Given the description of an element on the screen output the (x, y) to click on. 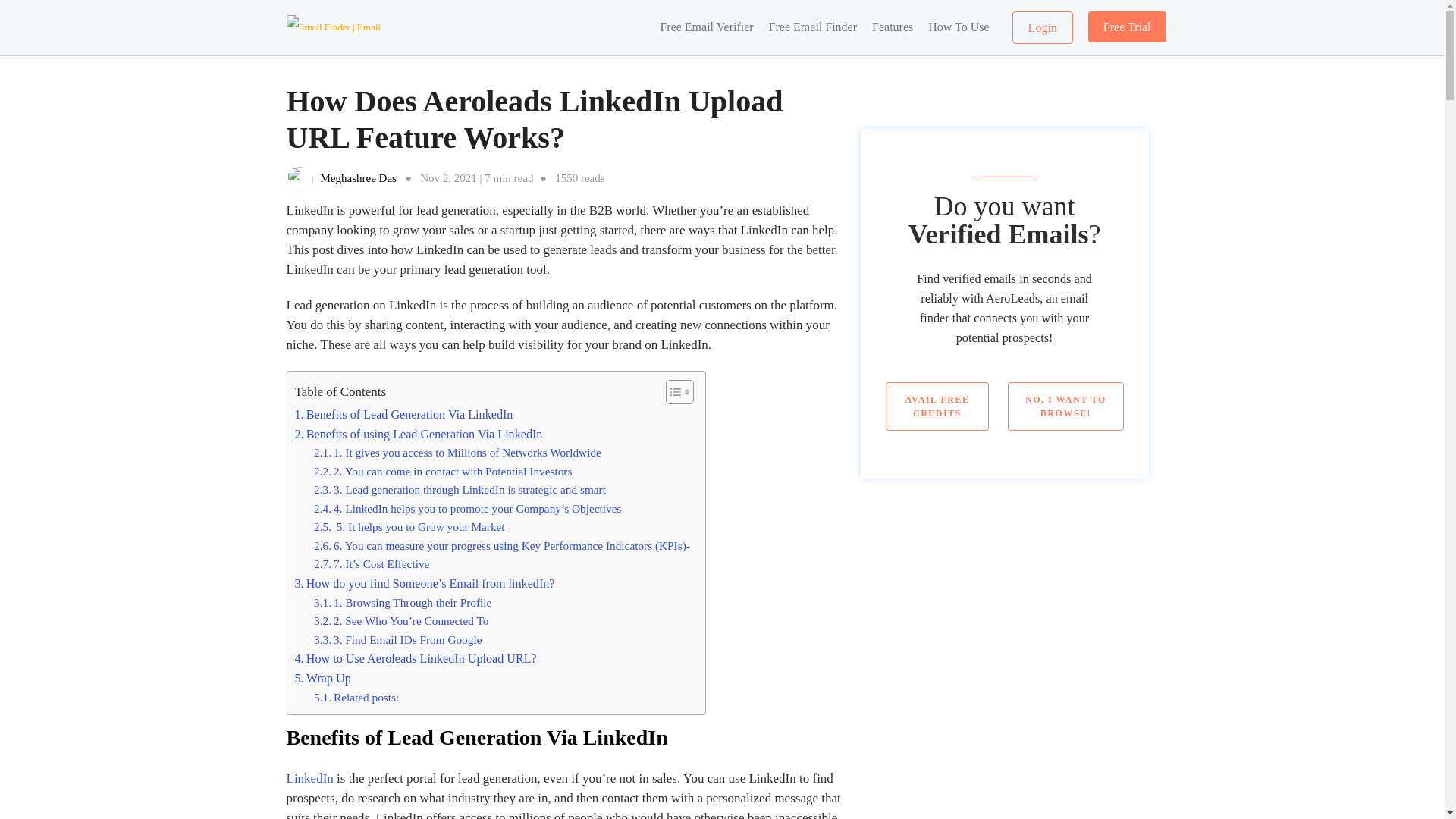
3. Find Email IDs From Google (397, 639)
2. You can come in contact with Potential Investors (443, 471)
2. You can come in contact with Potential Investors (443, 471)
Benefits of using Lead Generation Via LinkedIn (417, 434)
How To Use AeroLeads (957, 26)
 5. It helps you to Grow your Market (409, 526)
1. Browsing Through their Profile (403, 602)
LinkedIn (309, 778)
Benefits of Lead Generation Via LinkedIn (403, 414)
Meghashree Das (358, 177)
Login (1042, 27)
Benefits of Lead Generation Via LinkedIn (403, 414)
by Meghashree Das (358, 177)
Features (892, 26)
3. Lead generation through LinkedIn is strategic and smart (459, 489)
